Given the description of an element on the screen output the (x, y) to click on. 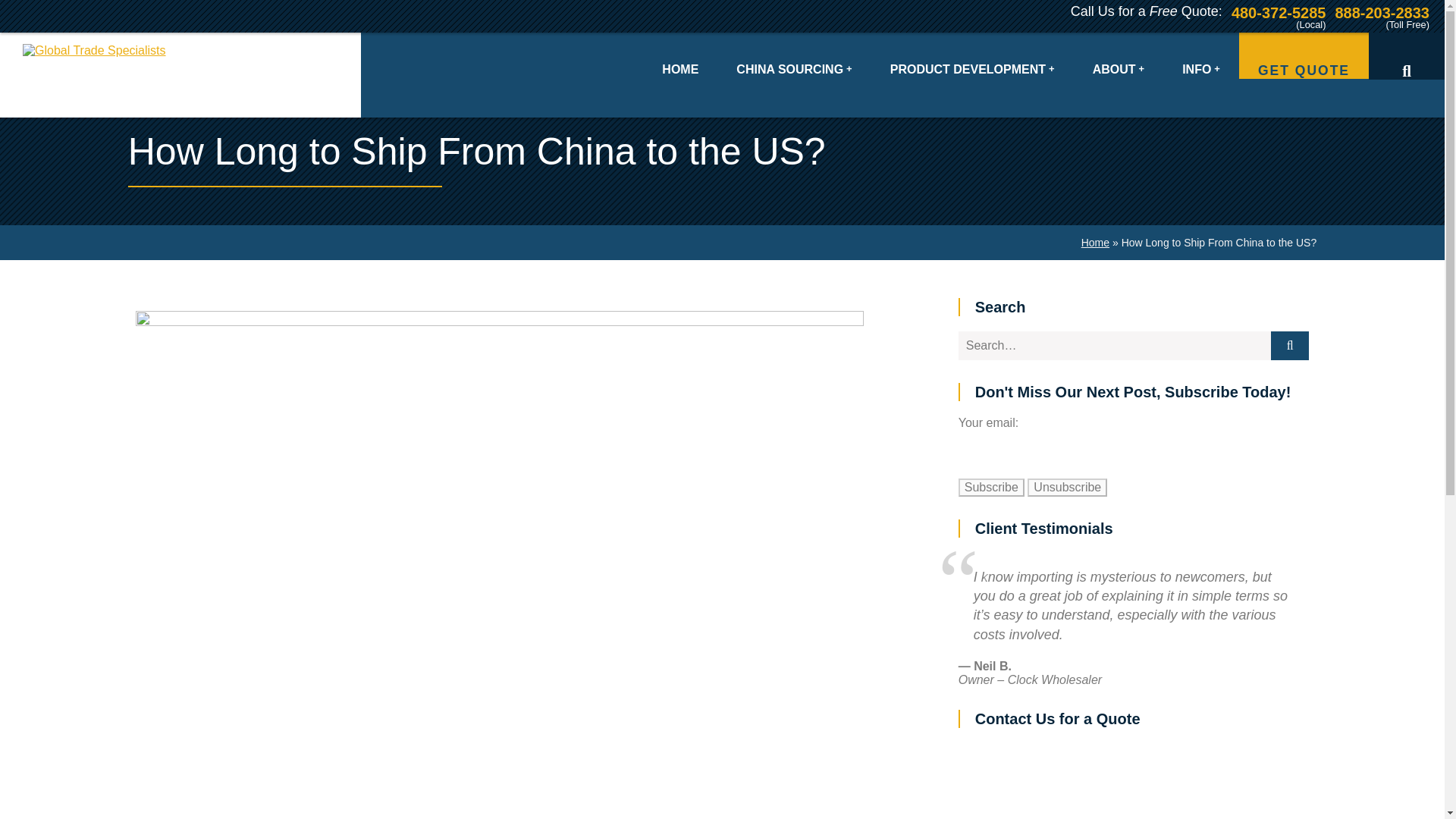
GET QUOTE (1303, 55)
HOME (680, 54)
ABOUT (1118, 54)
Unsubscribe (1066, 487)
PRODUCT DEVELOPMENT (972, 54)
480-372-5285 (1278, 11)
Global Trade Specialists Home (188, 75)
Home (1095, 242)
CHINA SOURCING (793, 54)
Call Global Trade Specialists (1382, 11)
INFO (1201, 54)
888-203-2833 (1382, 11)
Subscribe (991, 487)
Search for: (1114, 345)
Call Global Trade Specialists (1278, 11)
